Given the description of an element on the screen output the (x, y) to click on. 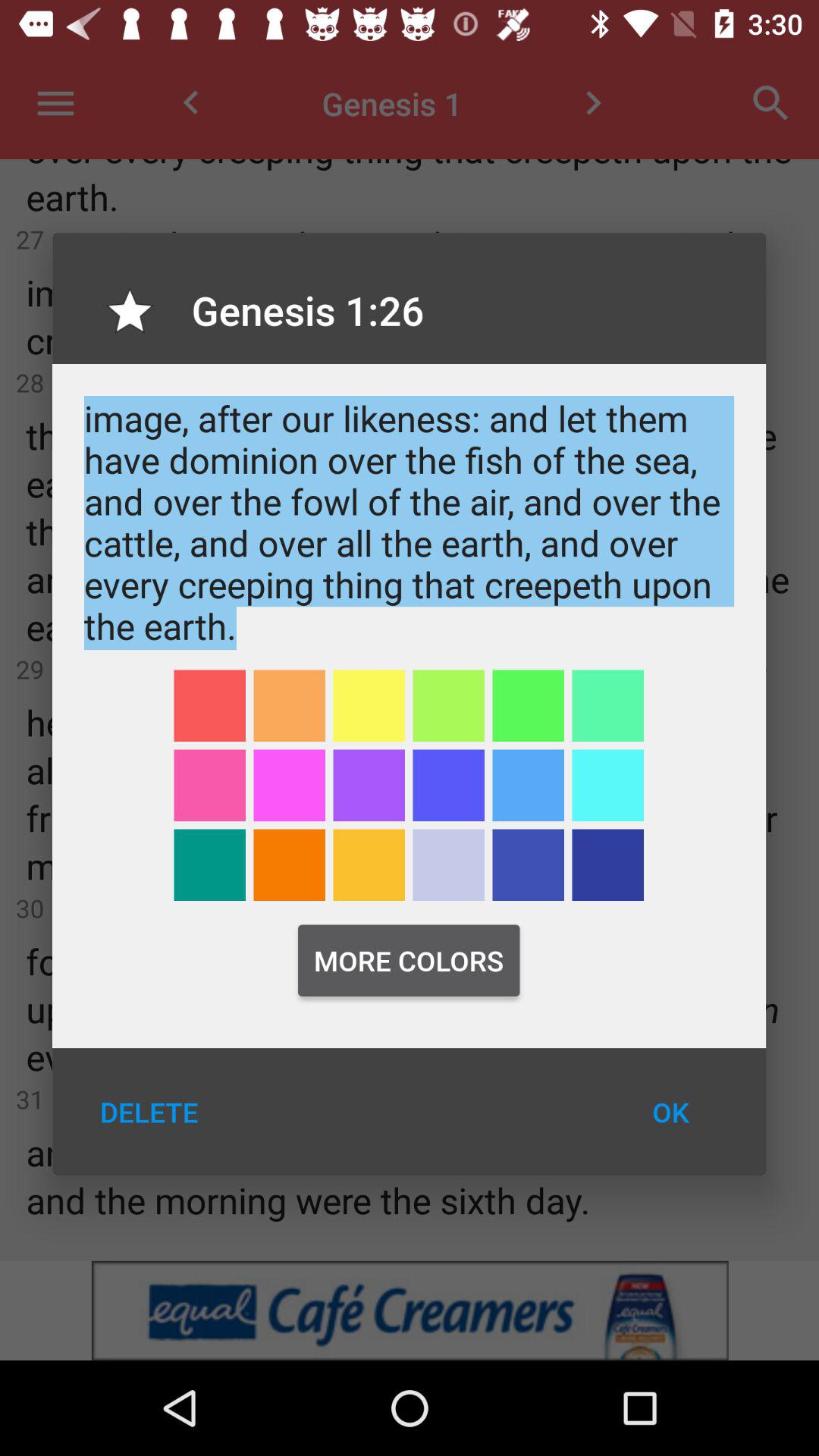
choose color yellow (368, 864)
